Given the description of an element on the screen output the (x, y) to click on. 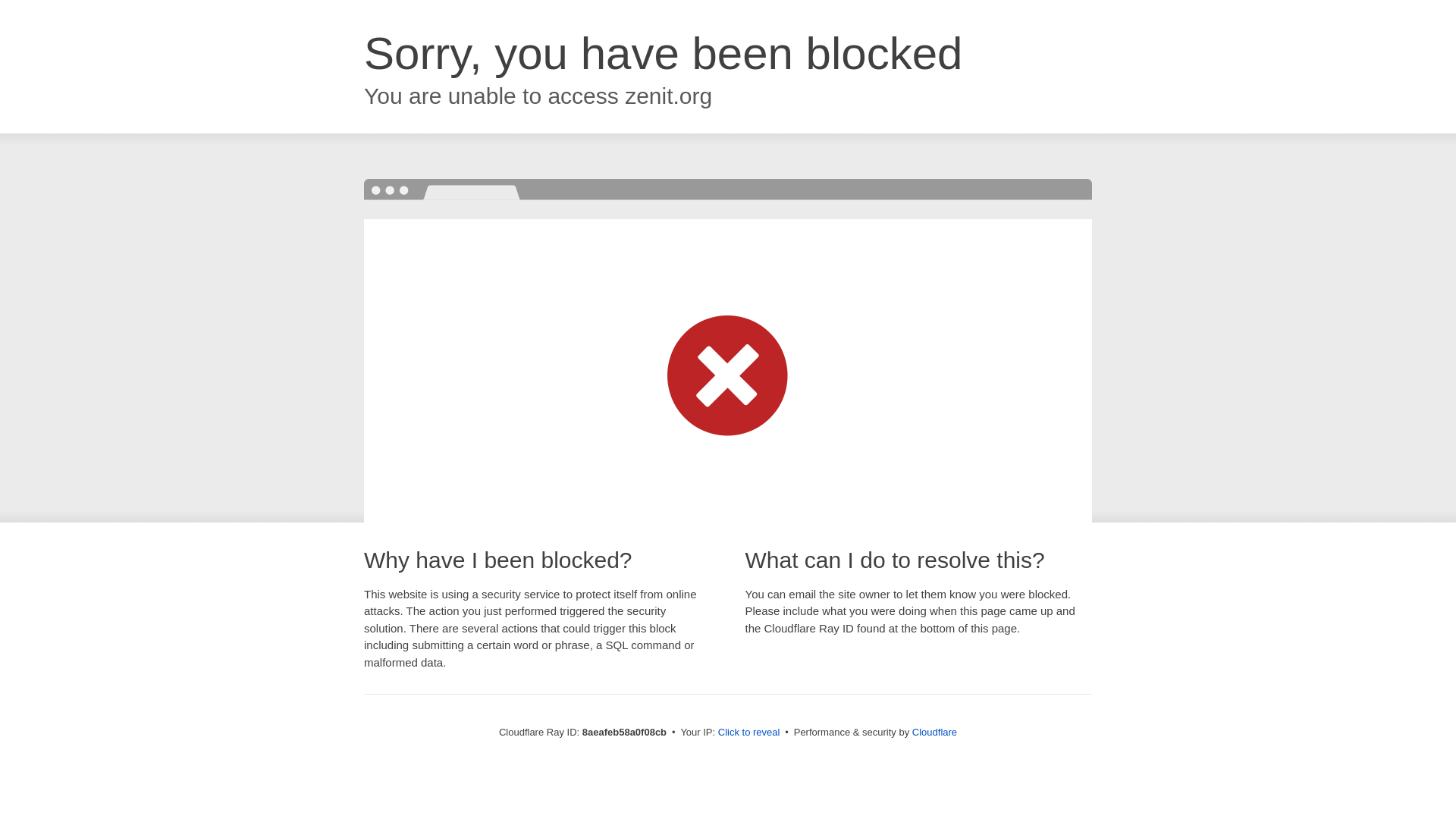
Click to reveal (748, 732)
Cloudflare (934, 731)
